Given the description of an element on the screen output the (x, y) to click on. 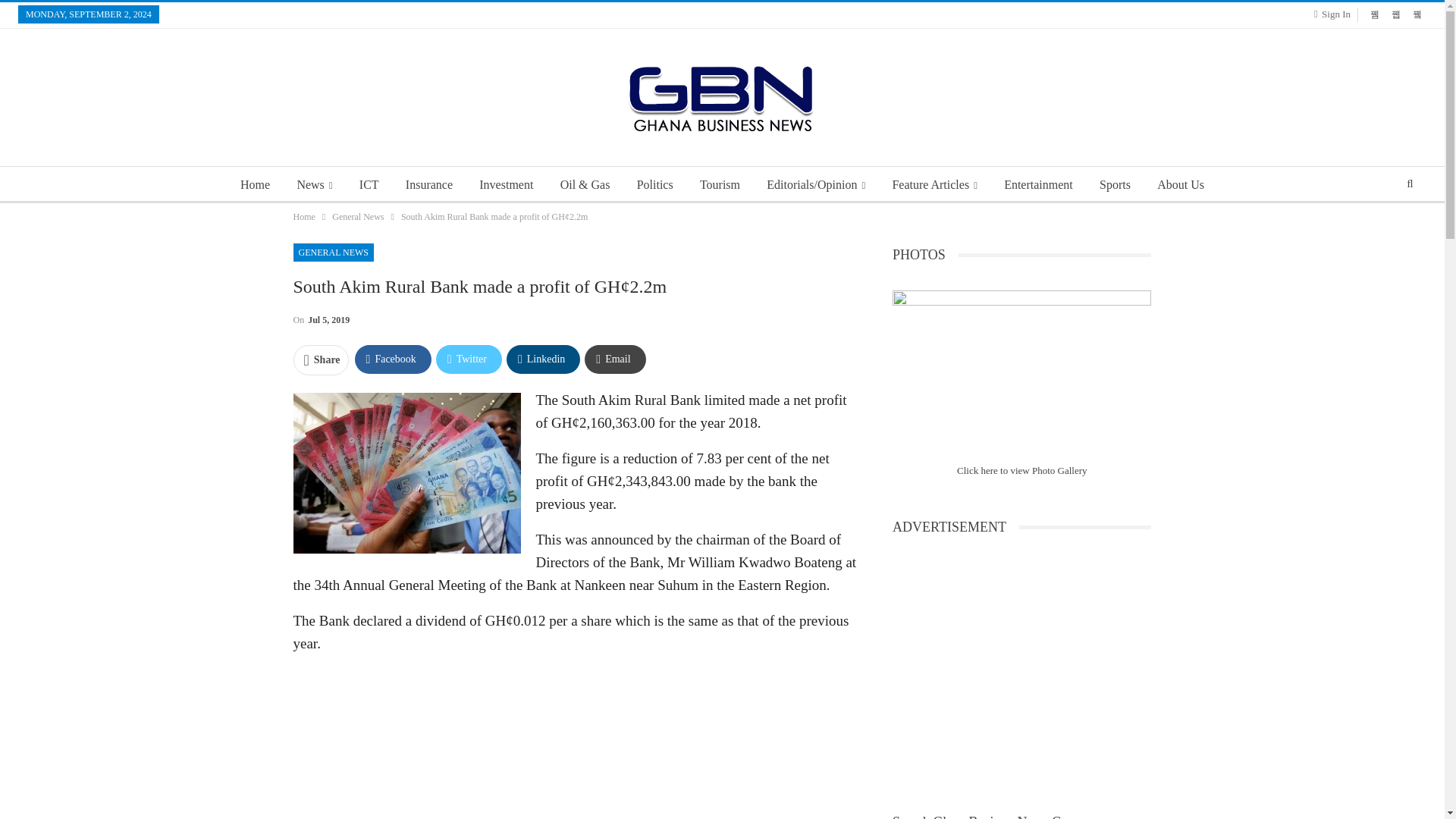
Politics (654, 185)
Home (255, 185)
Insurance (428, 185)
News (313, 185)
General News (357, 216)
Tourism (719, 185)
Entertainment (1037, 185)
Twitter (468, 358)
Home (303, 216)
Investment (505, 185)
